Given the description of an element on the screen output the (x, y) to click on. 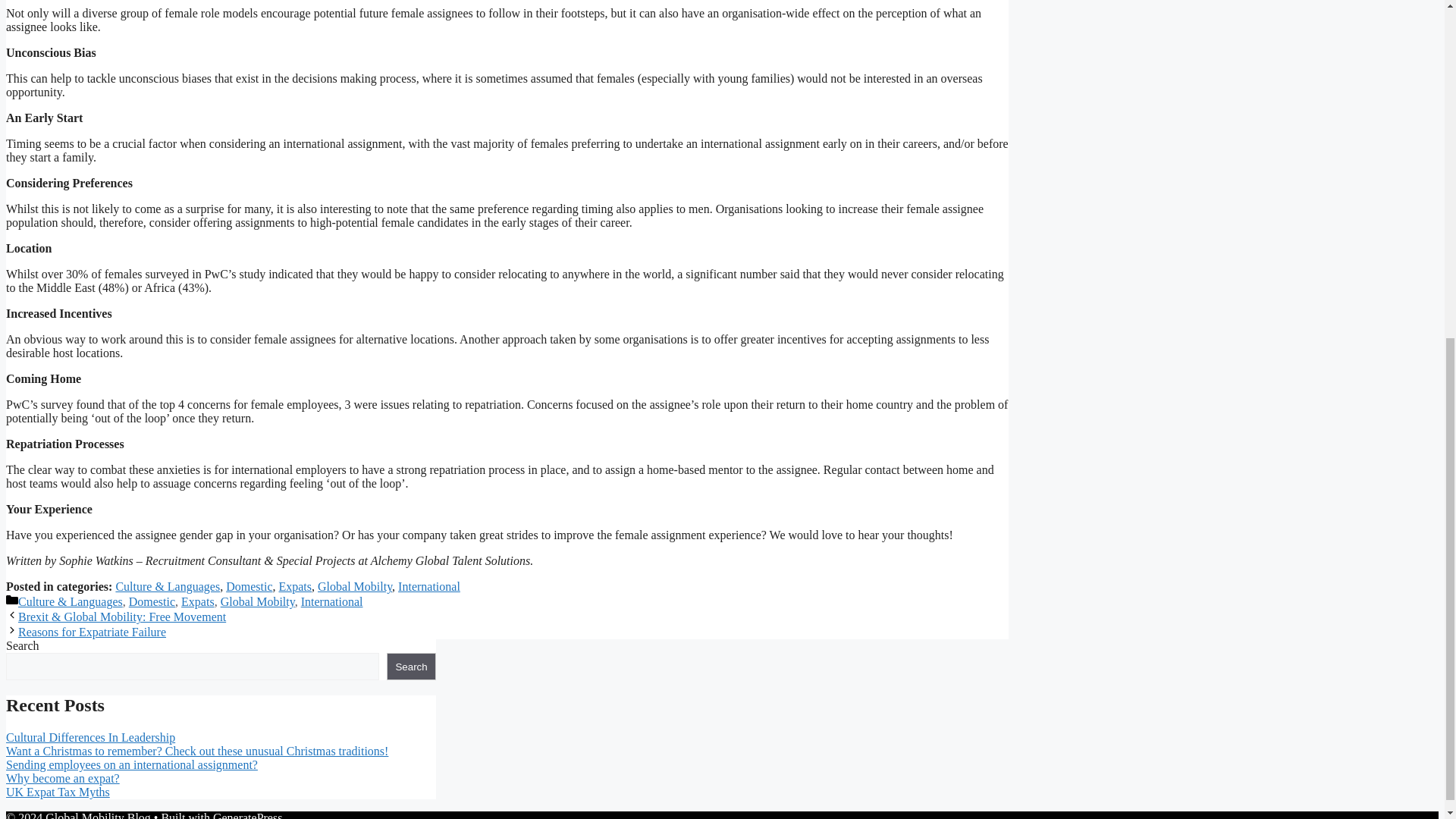
International (428, 585)
Next (91, 631)
Reasons for Expatriate Failure (91, 631)
Global Mobilty (354, 585)
Expats (197, 601)
Cultural Differences In Leadership (89, 737)
Expats (294, 585)
Global Mobilty (258, 601)
UK Expat Tax Myths (57, 791)
